Given the description of an element on the screen output the (x, y) to click on. 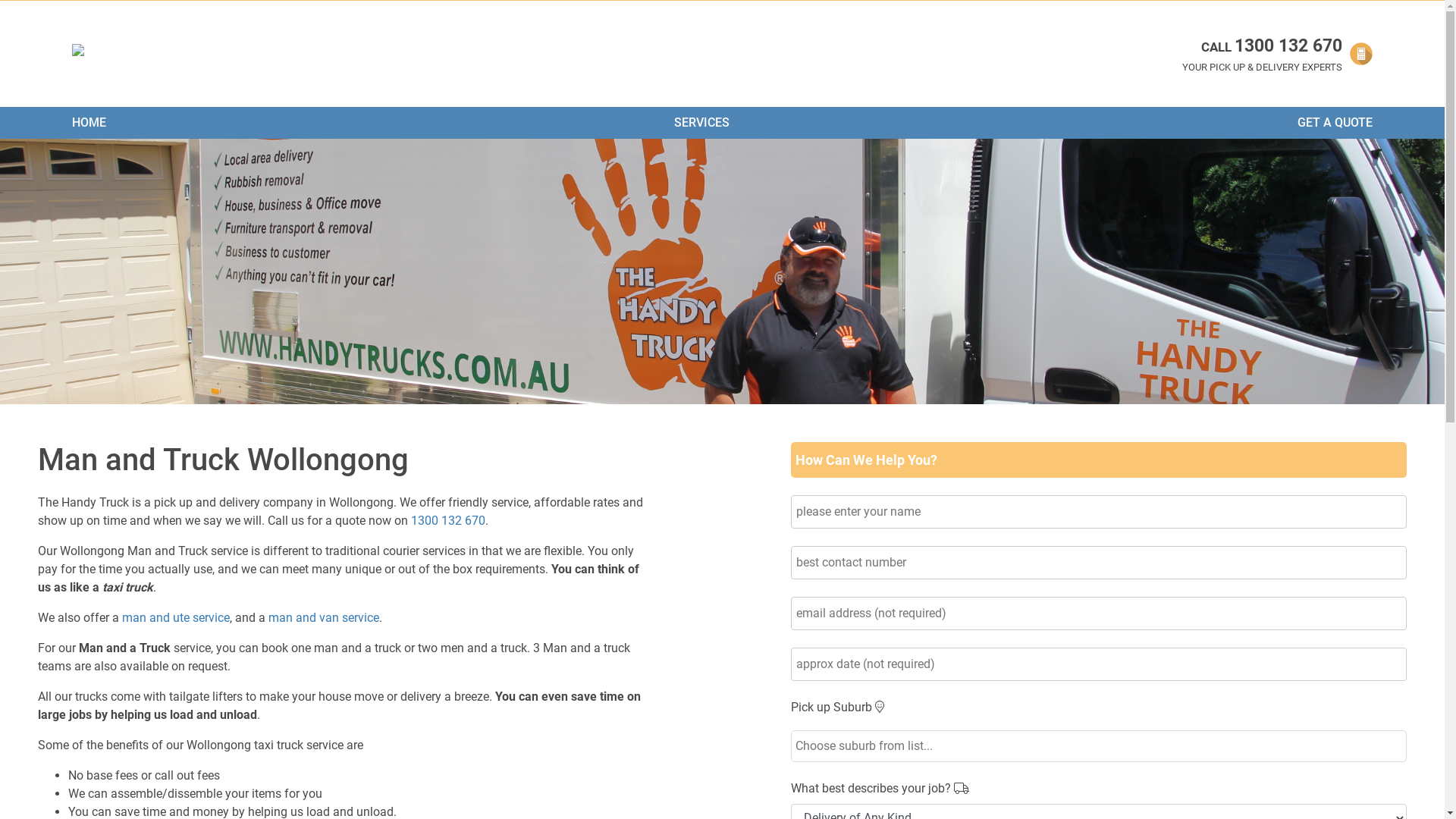
HOME Element type: text (89, 122)
1300 132 670 Element type: text (448, 520)
man and ute service Element type: text (175, 617)
man and van service Element type: text (323, 617)
GET A QUOTE Element type: text (1334, 122)
CALL 1300 132 670 Element type: text (1262, 46)
SERVICES Element type: text (701, 122)
